Given the description of an element on the screen output the (x, y) to click on. 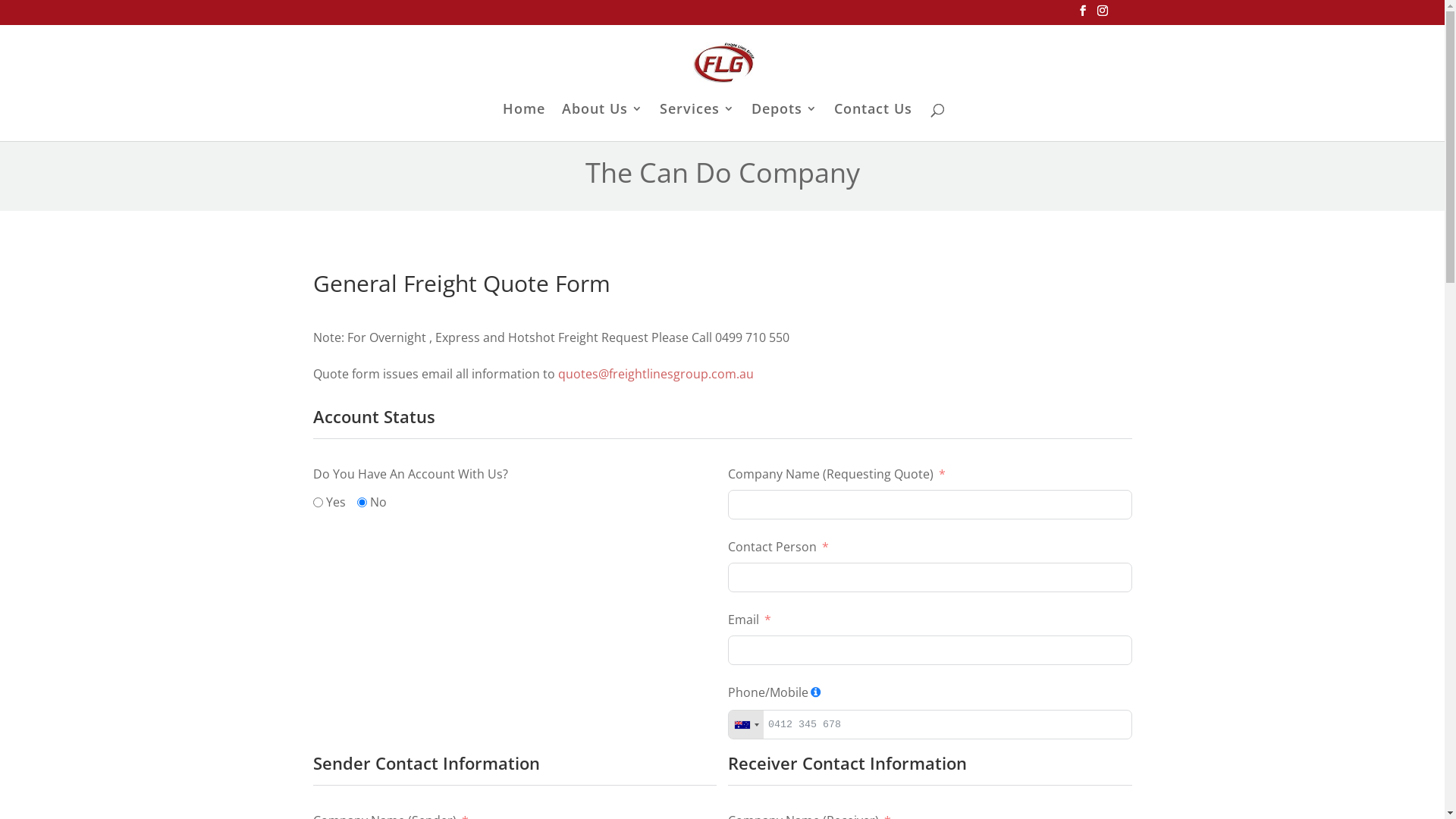
quotes@freightlinesgroup.com.au Element type: text (655, 373)
Depots Element type: text (783, 122)
Services Element type: text (696, 122)
About Us Element type: text (601, 122)
Home Element type: text (523, 122)
Contact Us Element type: text (873, 122)
Australia: +61 Element type: hover (745, 724)
